Given the description of an element on the screen output the (x, y) to click on. 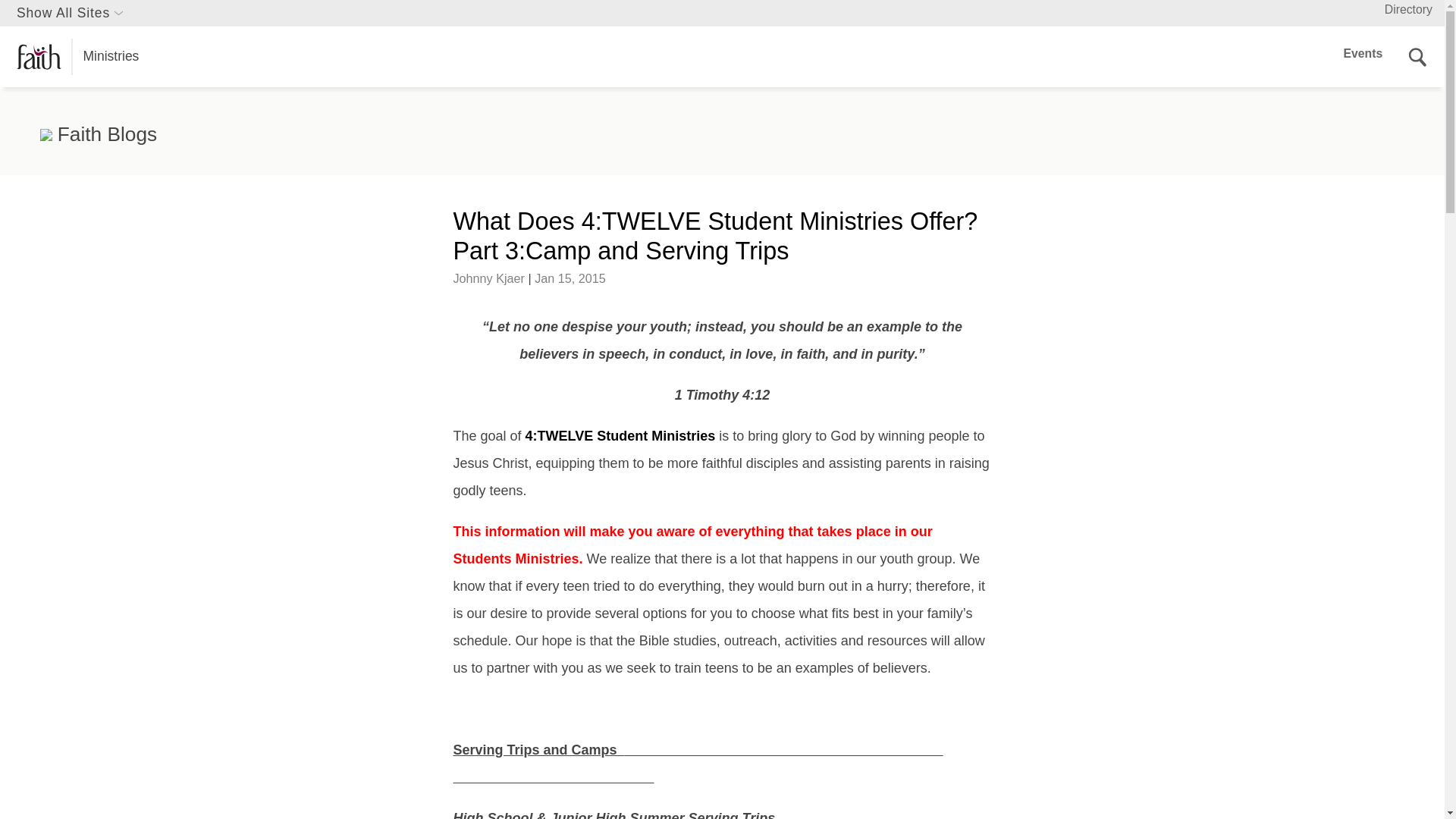
Events (1363, 53)
Ministries (77, 57)
Directory (1408, 9)
